Given the description of an element on the screen output the (x, y) to click on. 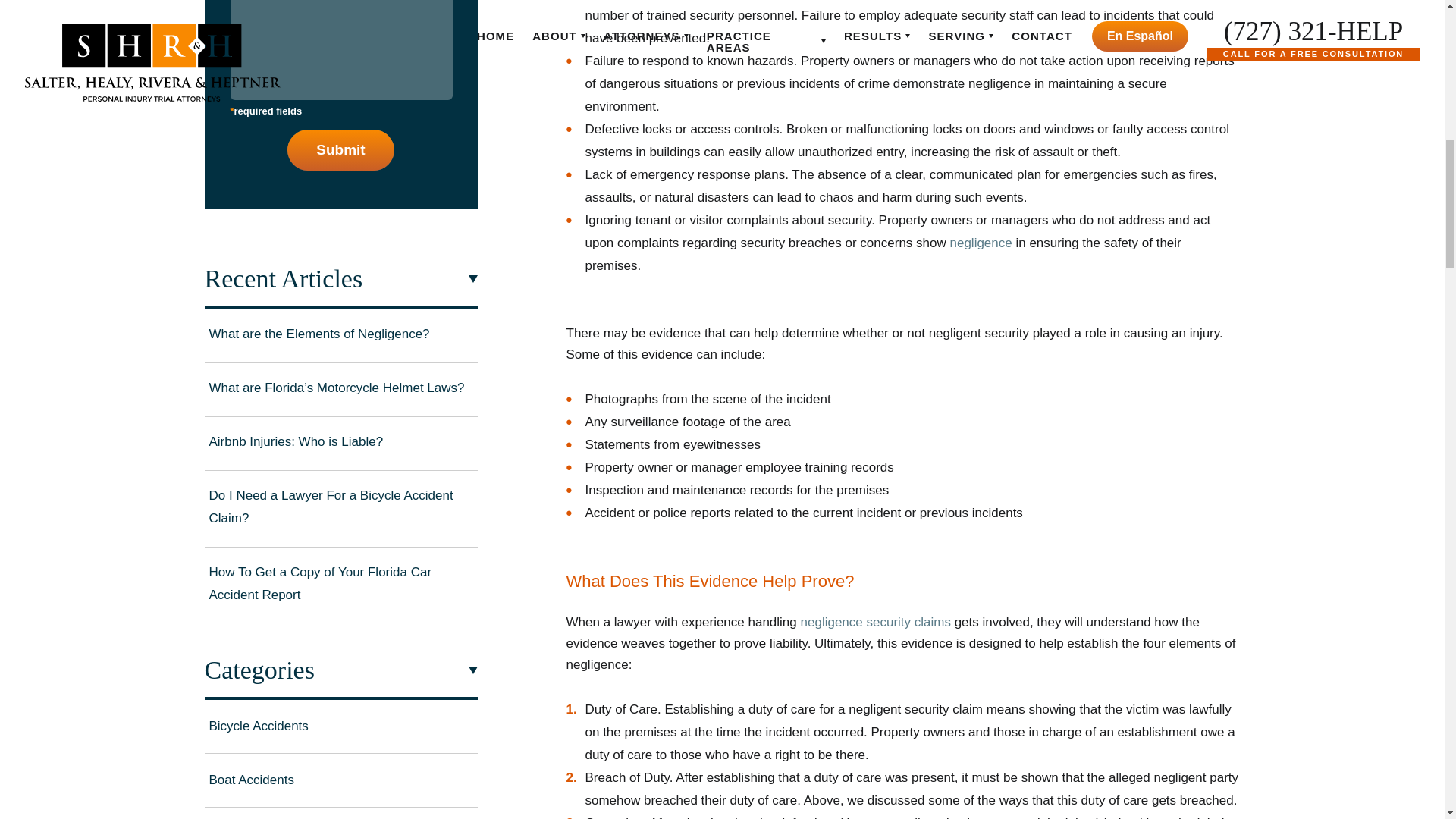
negligence (980, 242)
